Given the description of an element on the screen output the (x, y) to click on. 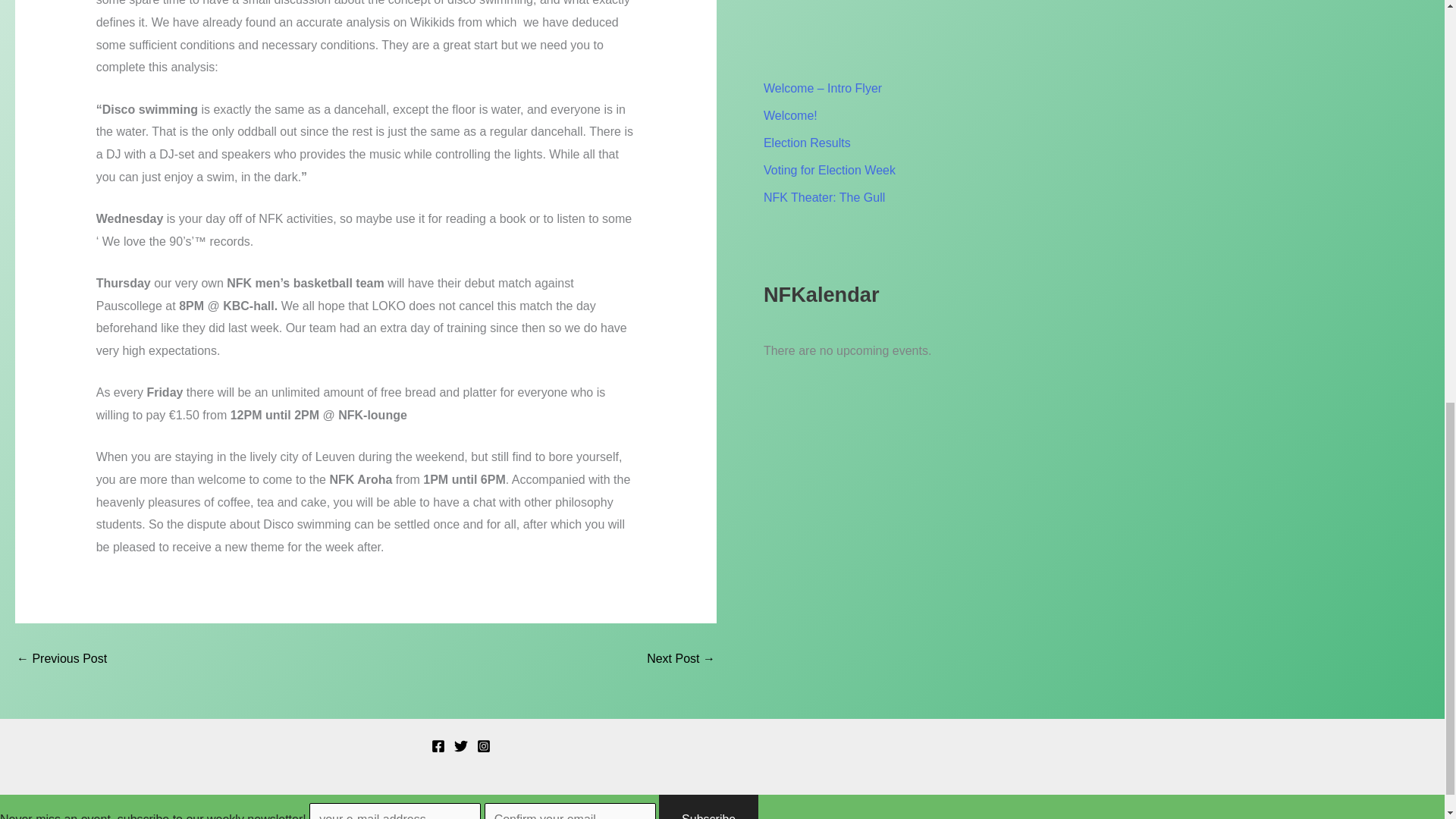
Wegwijzer 30-10-2017 (61, 658)
Wegwijzer 13-11-2017 (680, 658)
